Given the description of an element on the screen output the (x, y) to click on. 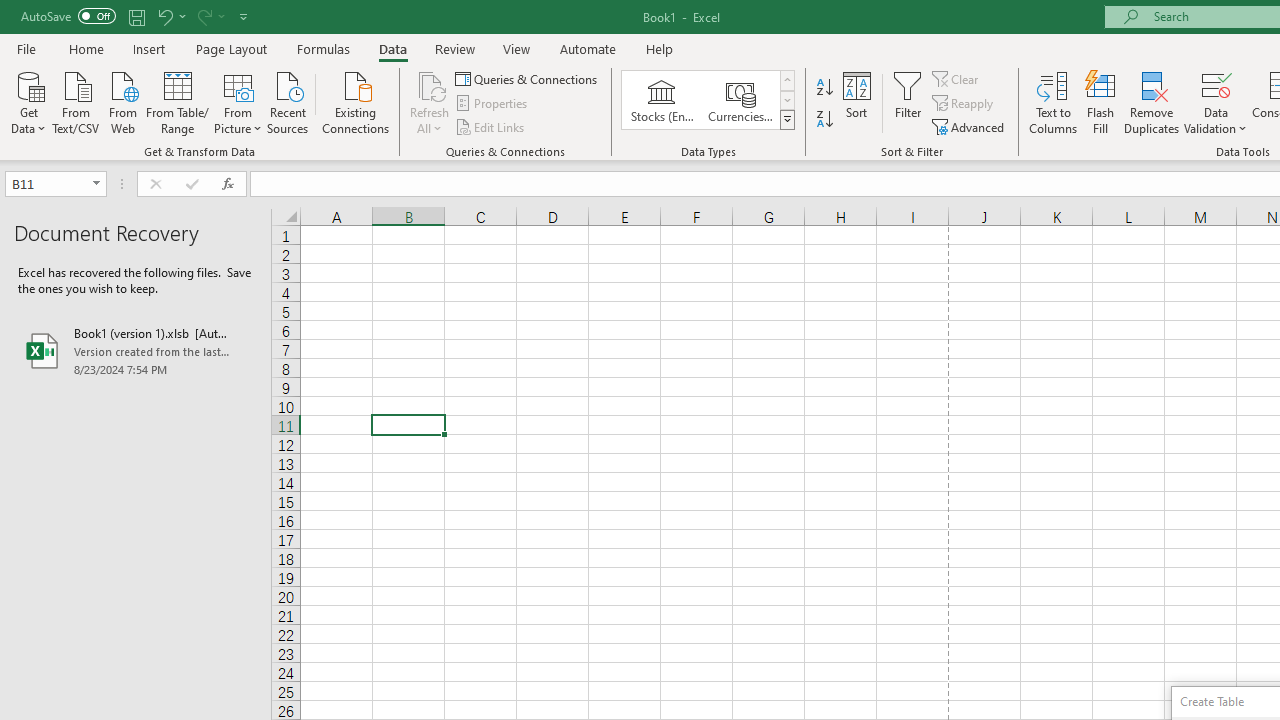
Reapply (964, 103)
Queries & Connections (527, 78)
Class: NetUIImage (787, 119)
Row Down (786, 100)
Remove Duplicates (1151, 102)
Sort Z to A (824, 119)
Row up (786, 79)
Get Data (28, 101)
